Given the description of an element on the screen output the (x, y) to click on. 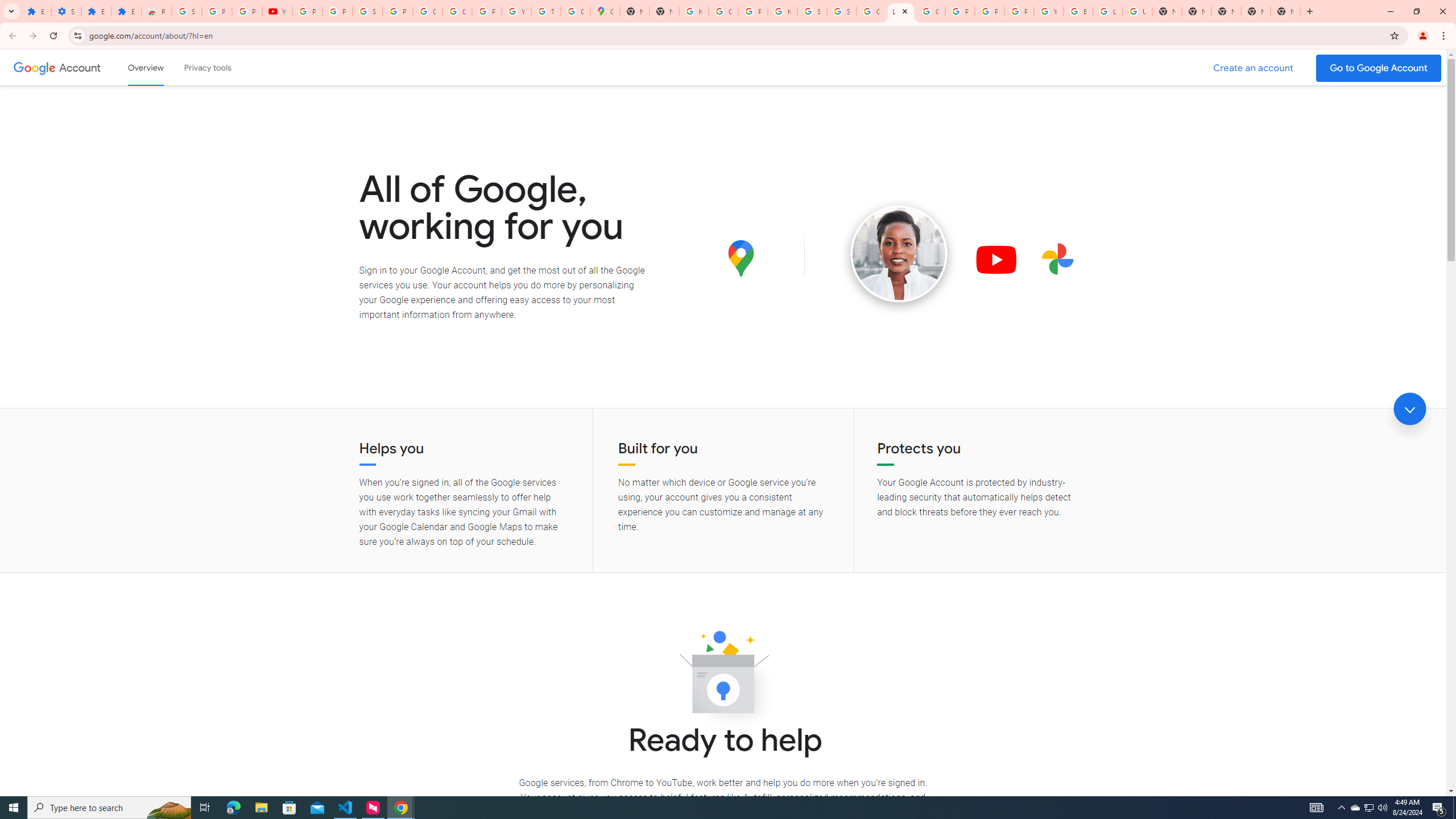
Sign in - Google Accounts (185, 11)
Jump link (1409, 408)
Google Account overview (145, 67)
Privacy Help Center - Policies Help (989, 11)
Sign in - Google Accounts (811, 11)
Google Maps (604, 11)
